Given the description of an element on the screen output the (x, y) to click on. 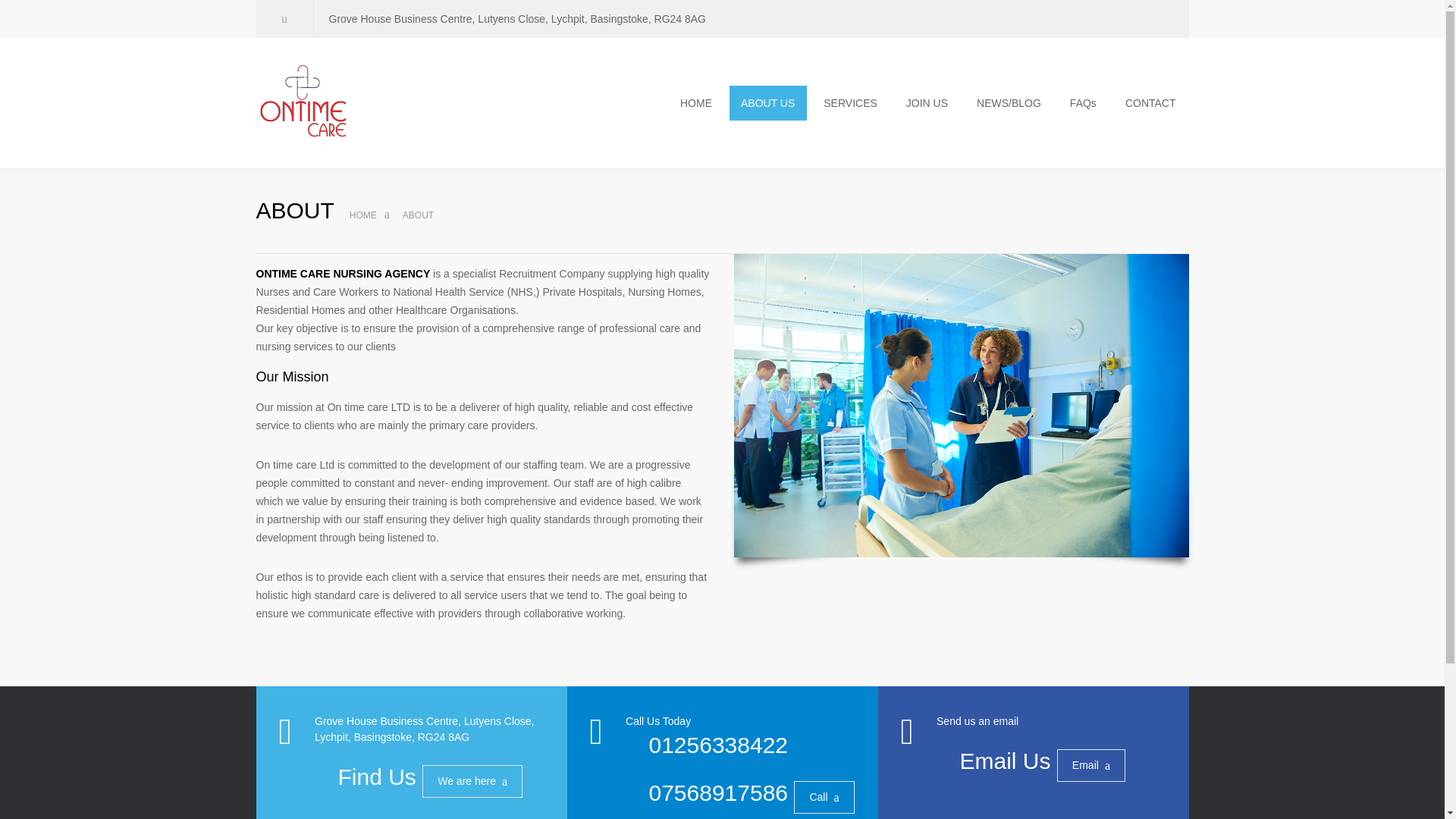
CONTACT (1151, 103)
Call (823, 797)
Home (363, 214)
FAQs (1083, 103)
JOIN US (926, 103)
We are here (472, 780)
Email (1091, 765)
We are here (472, 780)
Send us an email (976, 720)
Call (823, 797)
Call Us Today (658, 720)
HOME (363, 214)
Send us an email (976, 720)
